Given the description of an element on the screen output the (x, y) to click on. 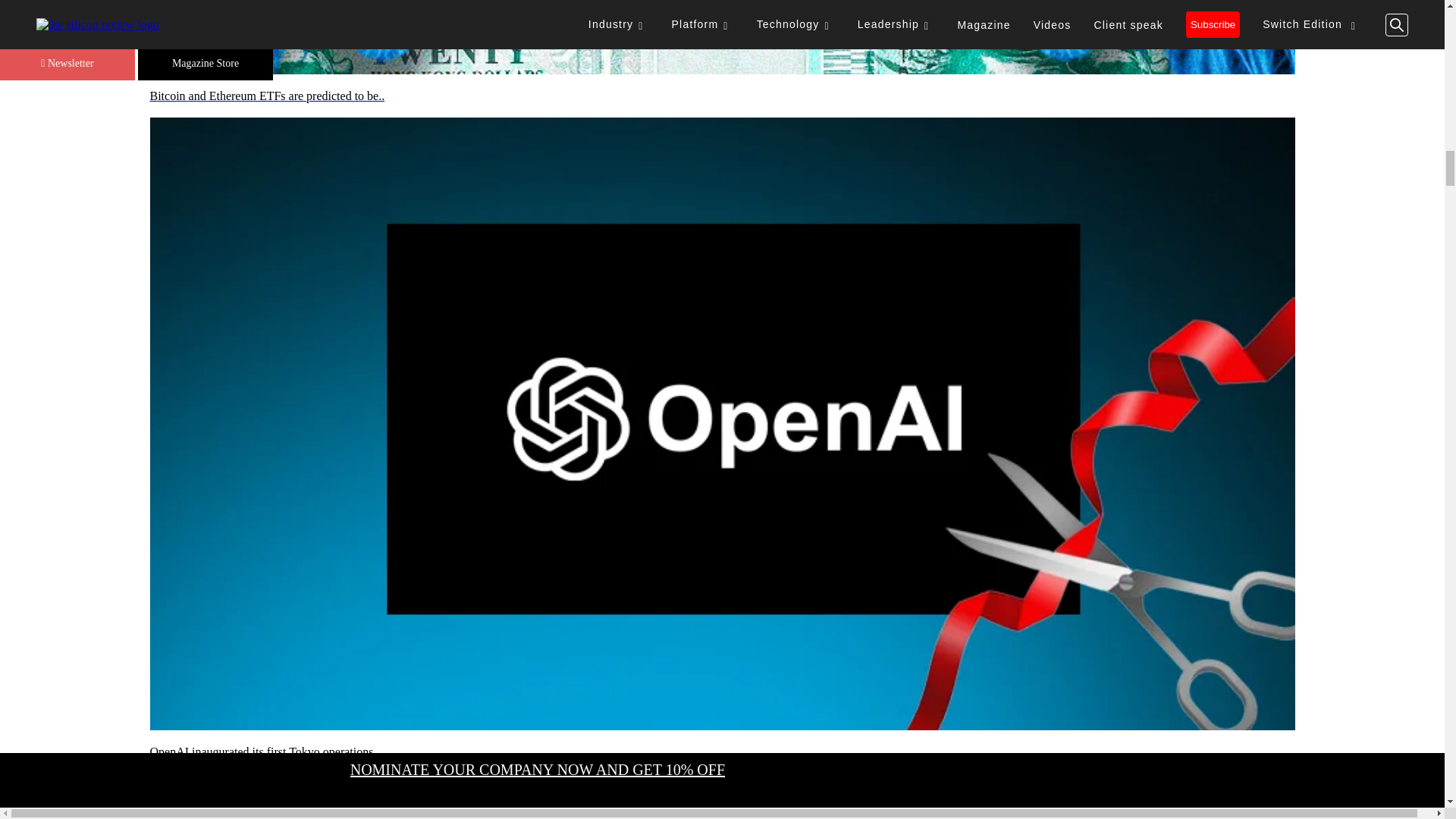
OpenAI inaugurated its first Tokyo operations center (722, 751)
